Given the description of an element on the screen output the (x, y) to click on. 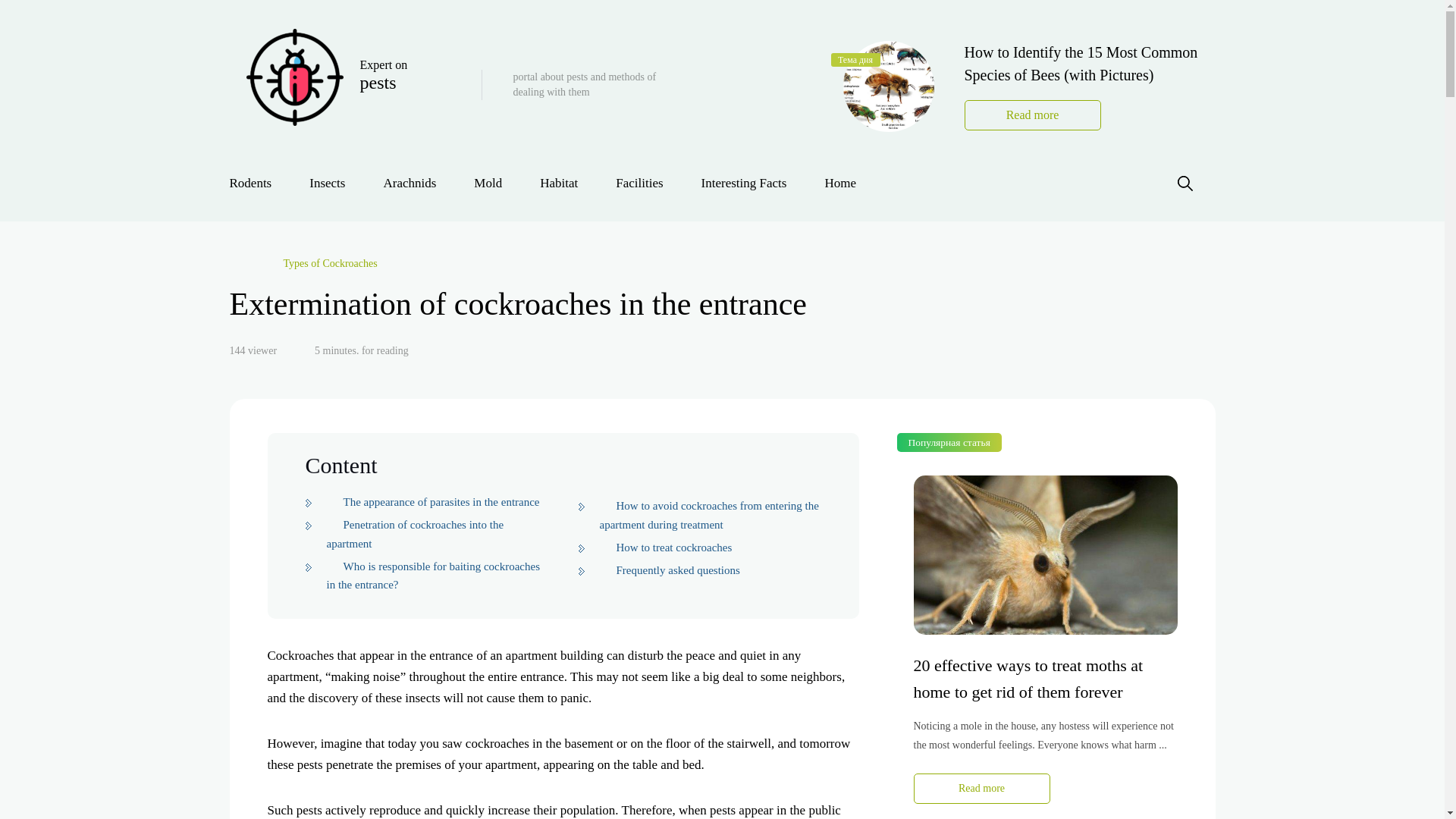
Interesting Facts (744, 183)
Penetration of cockroaches into the apartment (414, 533)
Arachnids (409, 183)
Rodents (354, 83)
How to treat cockroaches (258, 183)
Who is responsible for baiting cockroaches in the entrance? (665, 547)
Facilities (433, 575)
Mold (638, 183)
